Given the description of an element on the screen output the (x, y) to click on. 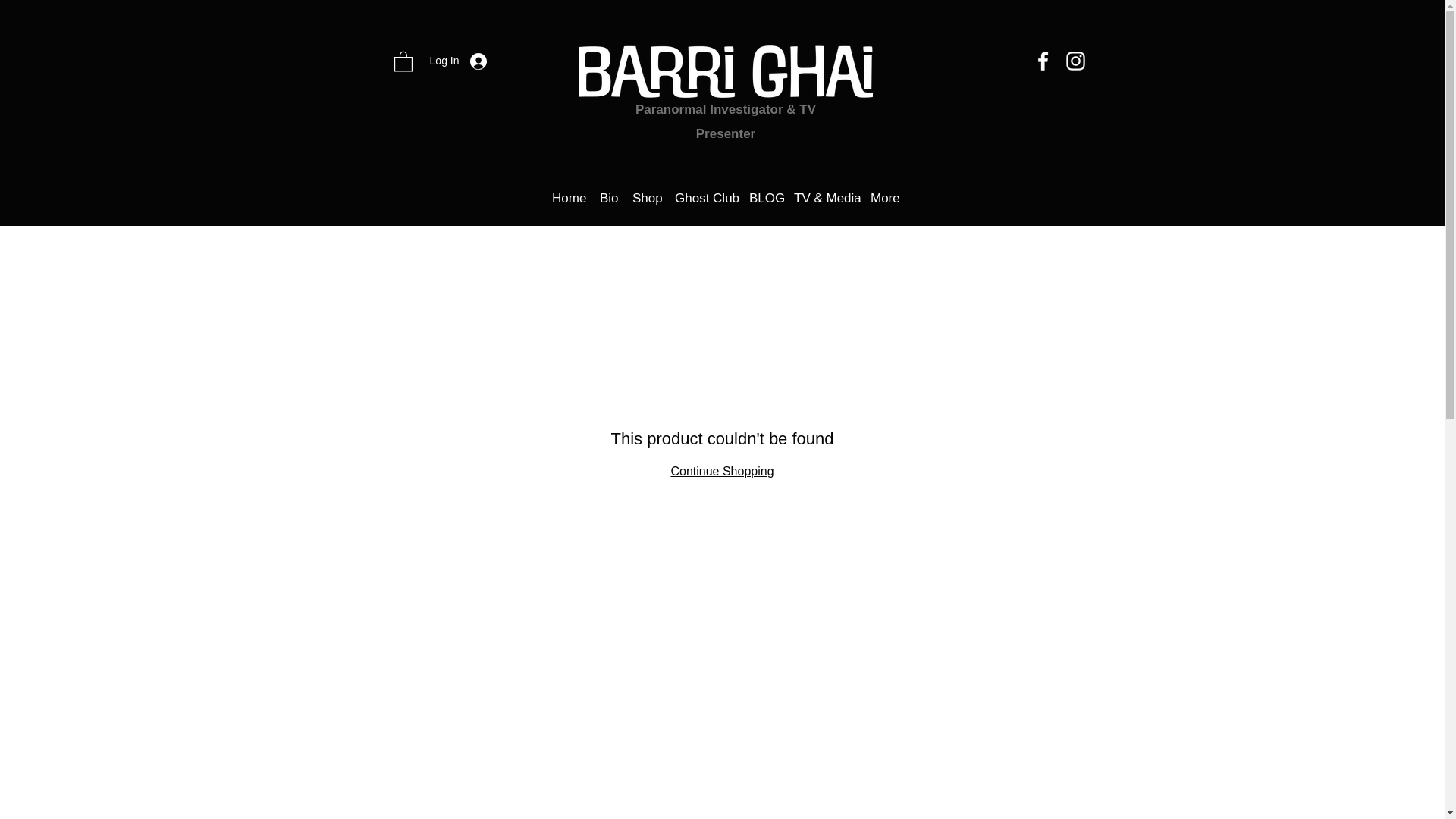
Home (568, 198)
Log In (458, 60)
Bio (608, 198)
Shop (645, 198)
Continue Shopping (721, 471)
BLOG (763, 198)
Ghost Club (703, 198)
